Given the description of an element on the screen output the (x, y) to click on. 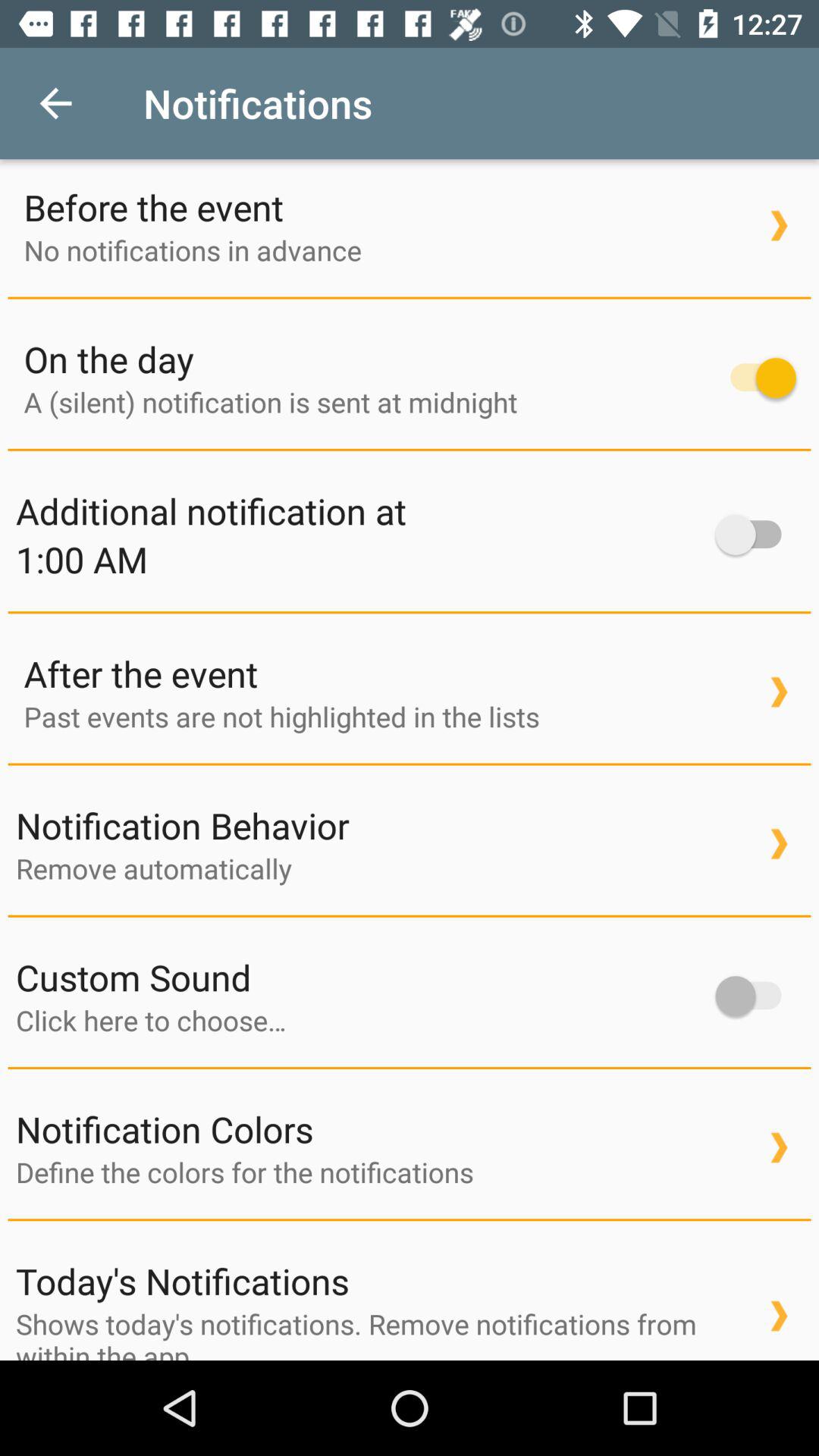
choose custom sound (357, 1020)
